Given the description of an element on the screen output the (x, y) to click on. 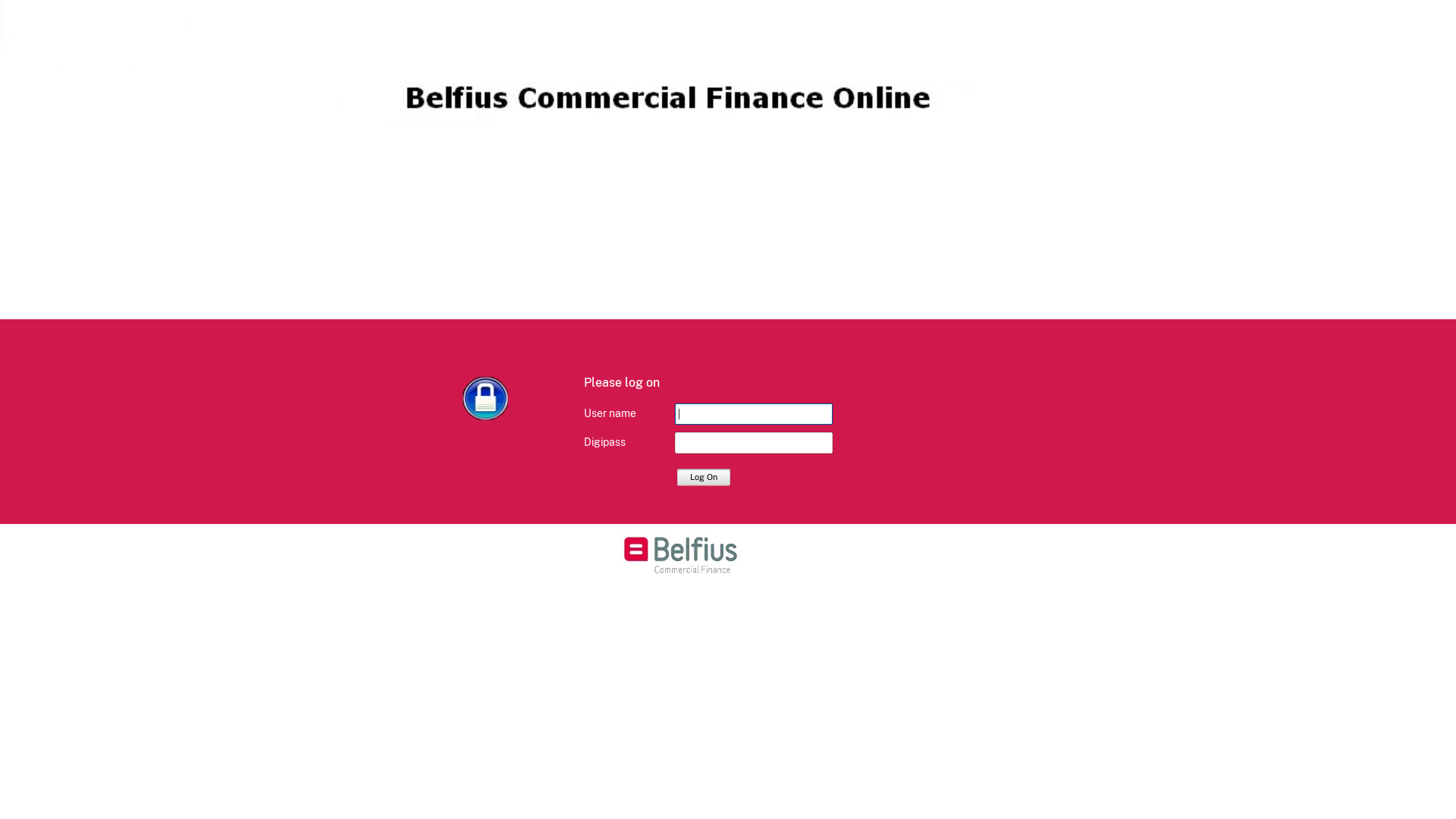
Log On Element type: text (703, 476)
